Given the description of an element on the screen output the (x, y) to click on. 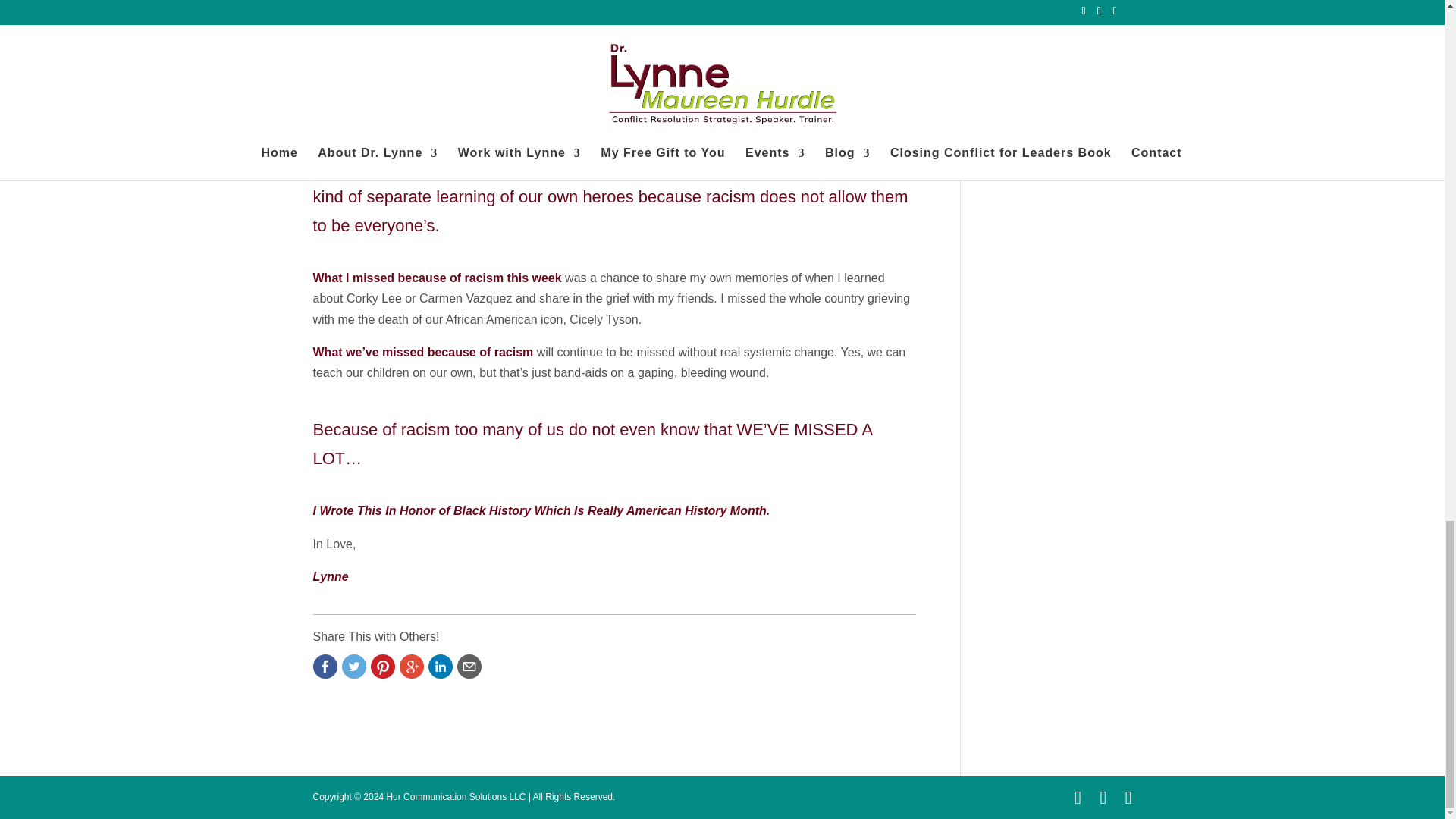
Click to share on Pinterest (381, 666)
Click to share on LinkedIn (439, 666)
Click to share on Google (410, 666)
Click to share by Email (468, 666)
Click to share on Facebook (324, 666)
Click to share on Twitter (352, 666)
